Given the description of an element on the screen output the (x, y) to click on. 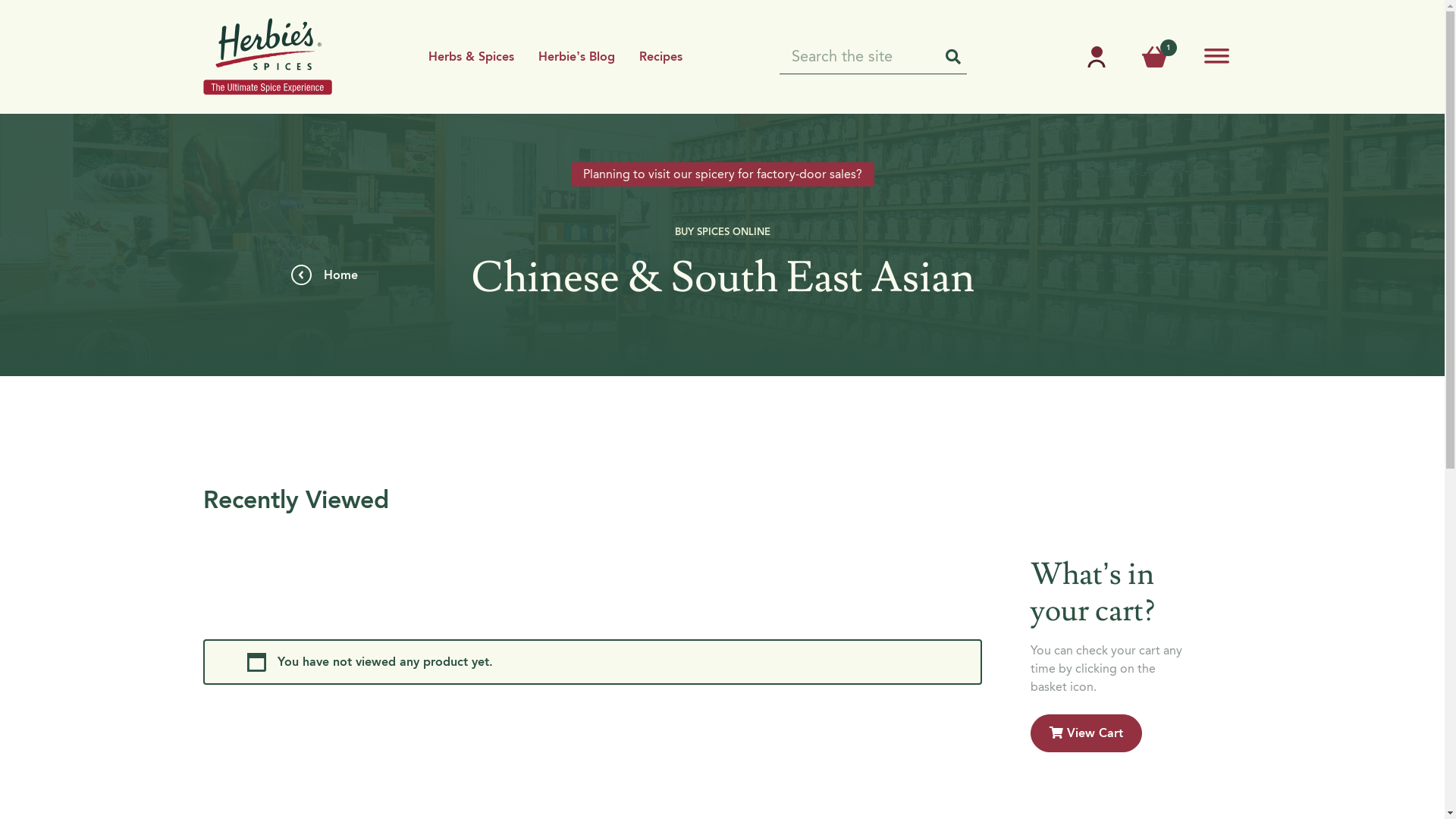
Planning to visit our spicery for factory-door sales? Element type: text (721, 174)
1 Element type: text (1154, 59)
Herbs & Spices Element type: text (471, 56)
View Cart Element type: text (1086, 733)
Recipes Element type: text (660, 56)
Home Element type: text (333, 275)
BUY SPICES ONLINE Element type: text (722, 231)
